Given the description of an element on the screen output the (x, y) to click on. 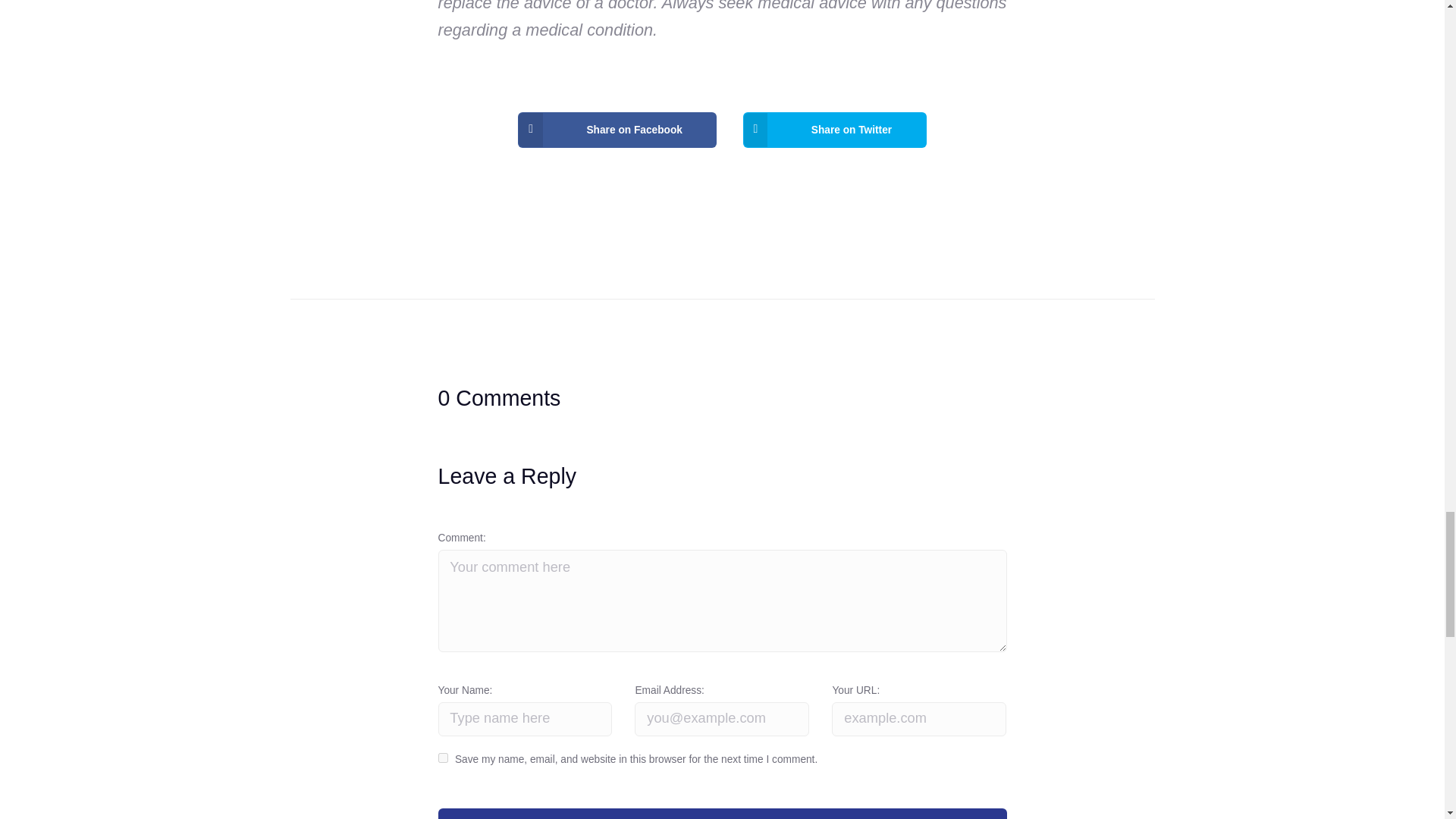
Share on Twitter (834, 130)
Submit Comment (722, 813)
Share on Facebook (617, 130)
Submit Comment (722, 813)
yes (443, 757)
